Given the description of an element on the screen output the (x, y) to click on. 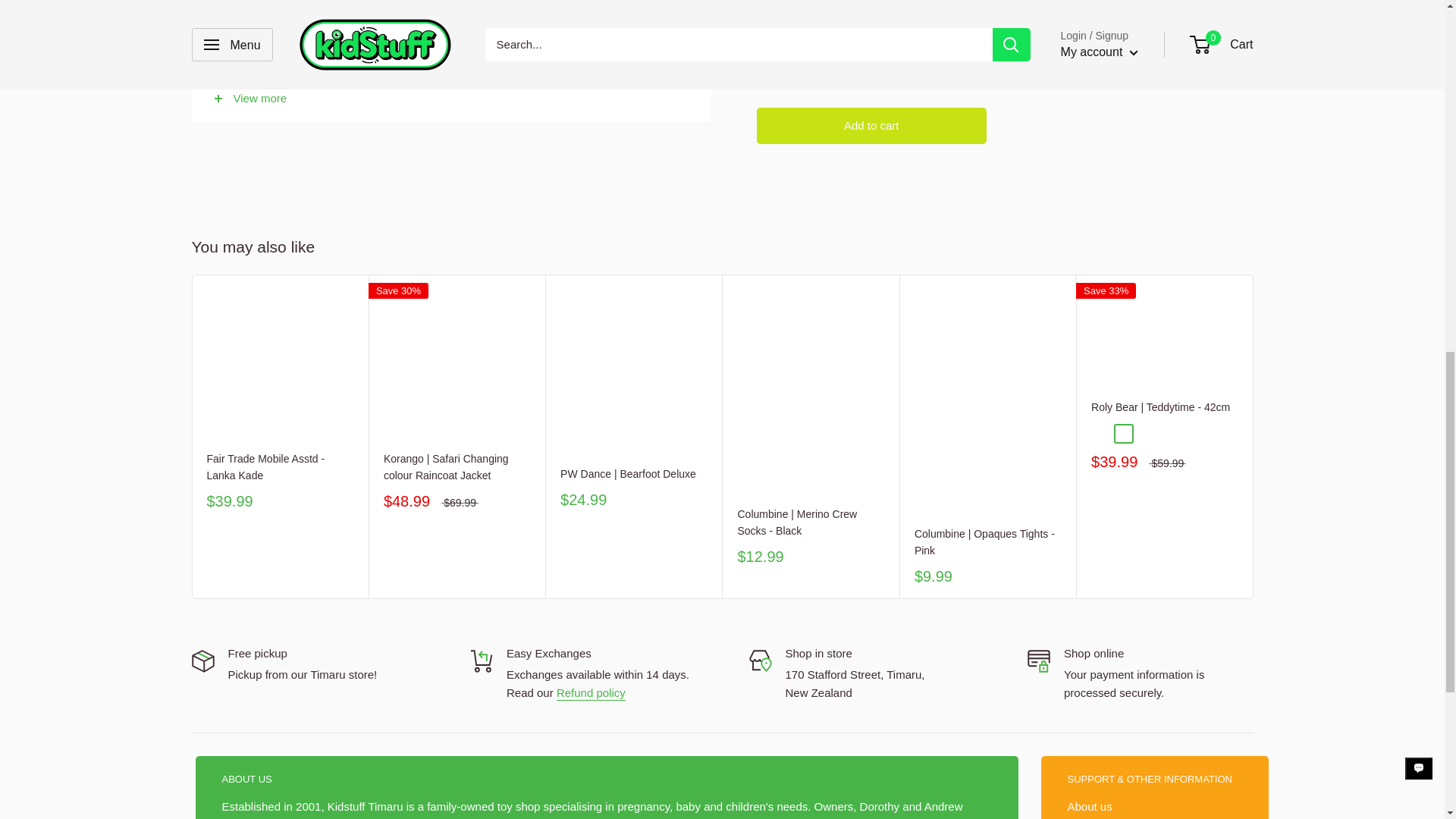
Refund Policy (591, 692)
Pink bear (1123, 433)
Blue Bear (1101, 433)
